Given the description of an element on the screen output the (x, y) to click on. 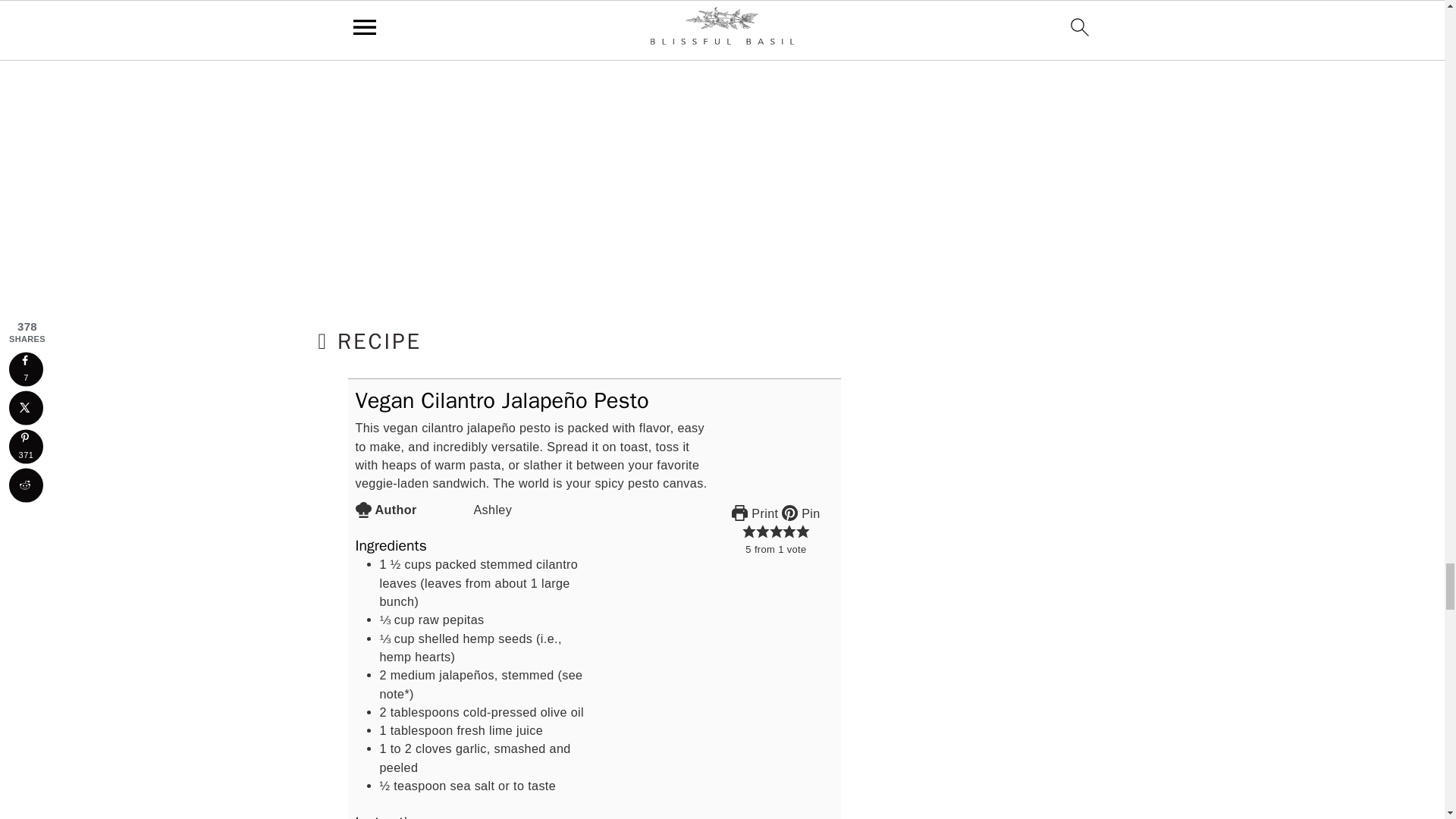
Print (754, 513)
Pin (800, 513)
